Given the description of an element on the screen output the (x, y) to click on. 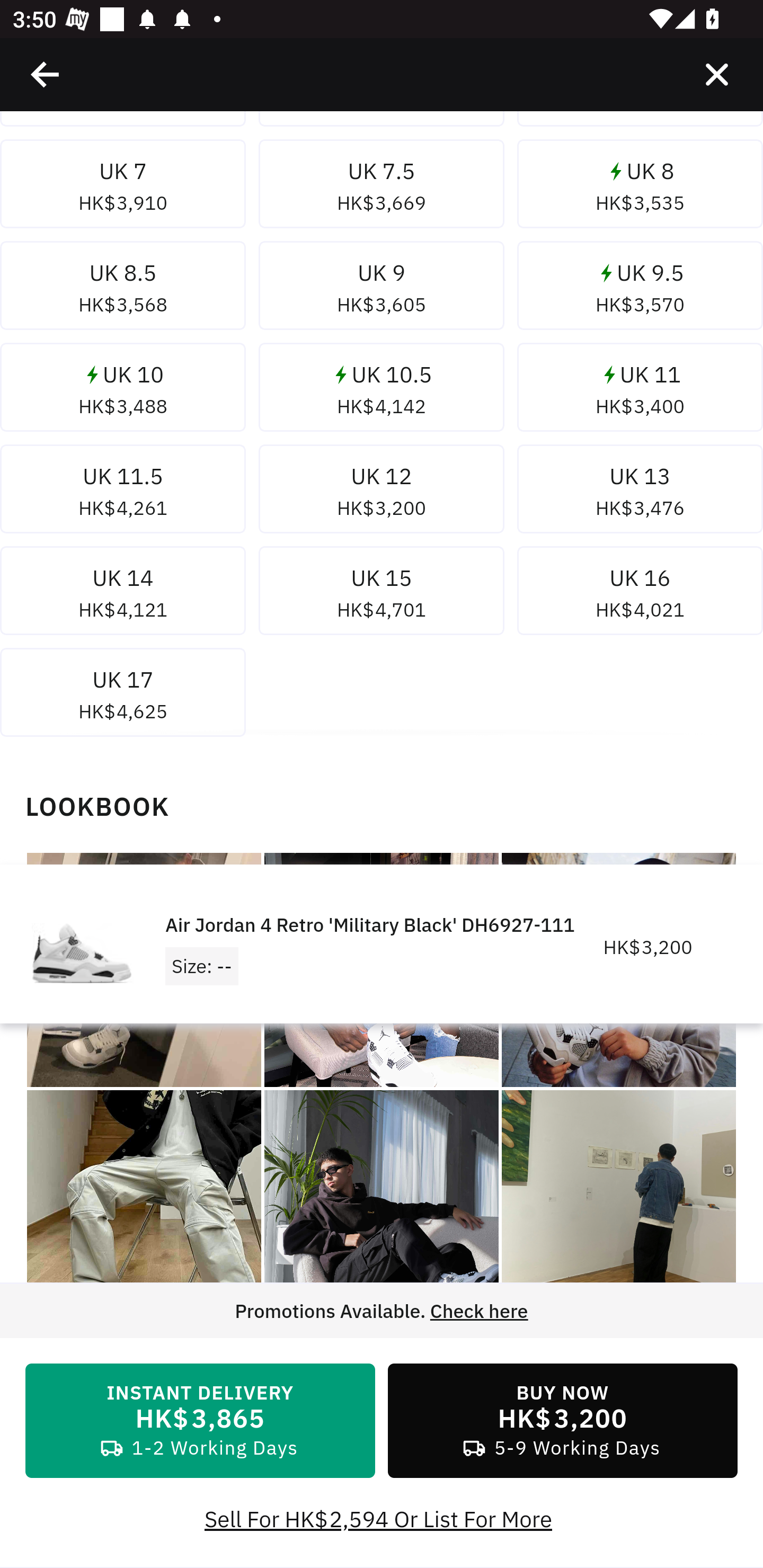
 (46, 74)
 (716, 74)
UK 7 HK$ 3,910 (122, 187)
UK 7.5 HK$ 3,669 (381, 187)
UK 8 HK$ 3,535 (639, 187)
UK 8.5 HK$ 3,568 (122, 289)
UK 9 HK$ 3,605 (381, 289)
UK 9.5 HK$ 3,570 (639, 289)
UK 10 HK$ 3,488 (122, 390)
UK 10.5 HK$ 4,142 (381, 390)
UK 11 HK$ 3,400 (639, 390)
UK 11.5 HK$ 4,261 (122, 492)
UK 12 HK$ 3,200 (381, 492)
UK 13 HK$ 3,476 (639, 492)
UK 14 HK$ 4,121 (122, 593)
UK 15 HK$ 4,701 (381, 593)
UK 16 HK$ 4,021 (639, 593)
UK 17 HK$ 4,625 (122, 695)
Air Jordan 4 Retro 'Military Black' DH6927‑111 (144, 1206)
Air Jordan 4 Retro 'Military Black' DH6927‑111 (381, 1206)
Air Jordan 4 Retro 'Military Black' DH6927‑111 (618, 1206)
Promotions Available. Check here (381, 1311)
INSTANT DELIVERY HK$ 3,865 1-2 Working Days (200, 1422)
BUY NOW HK$ 3,200 5-9 Working Days (562, 1422)
Sell For HK$ 2,594 Or List For More (381, 1519)
